Given the description of an element on the screen output the (x, y) to click on. 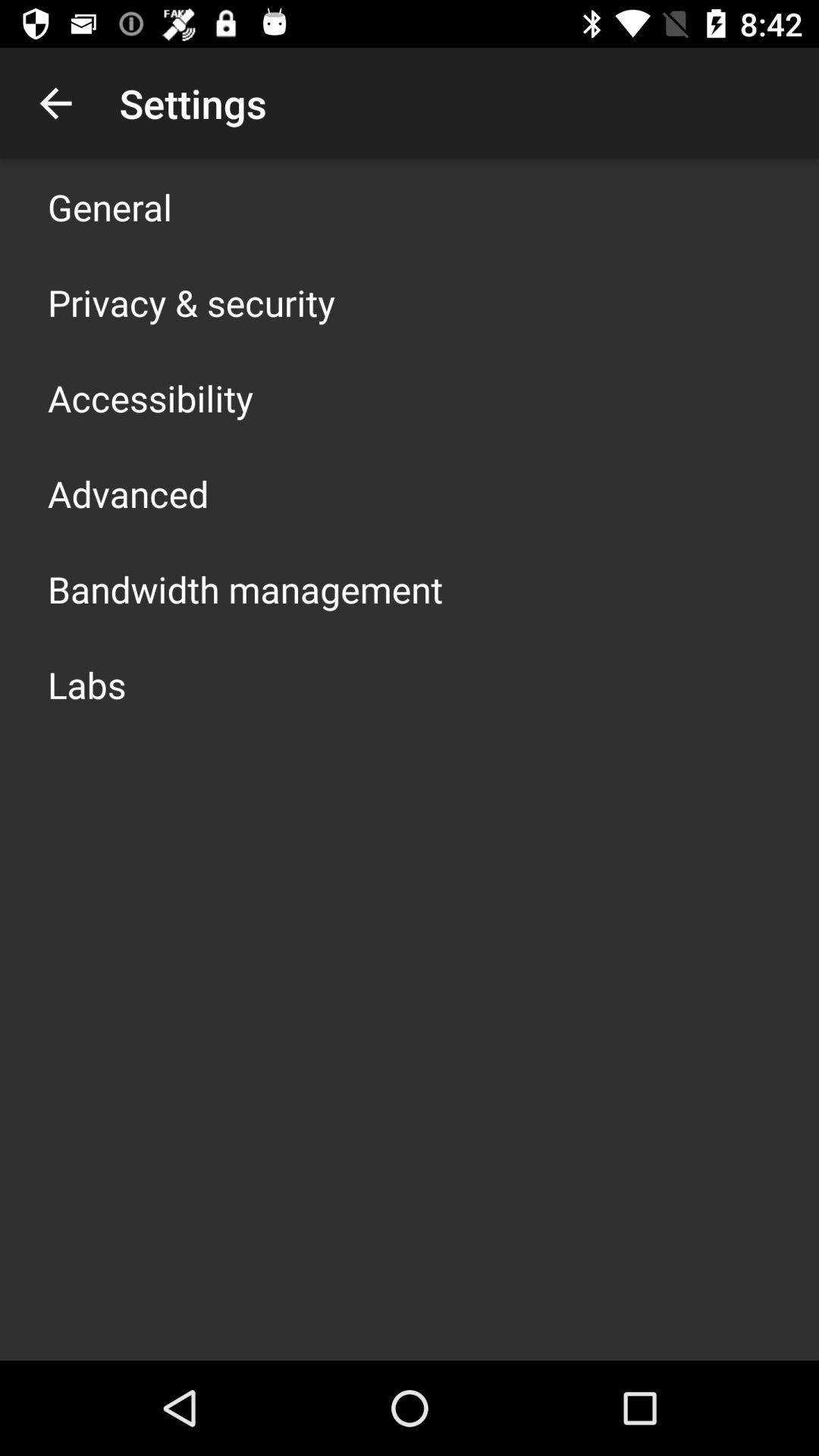
flip to bandwidth management item (245, 588)
